Given the description of an element on the screen output the (x, y) to click on. 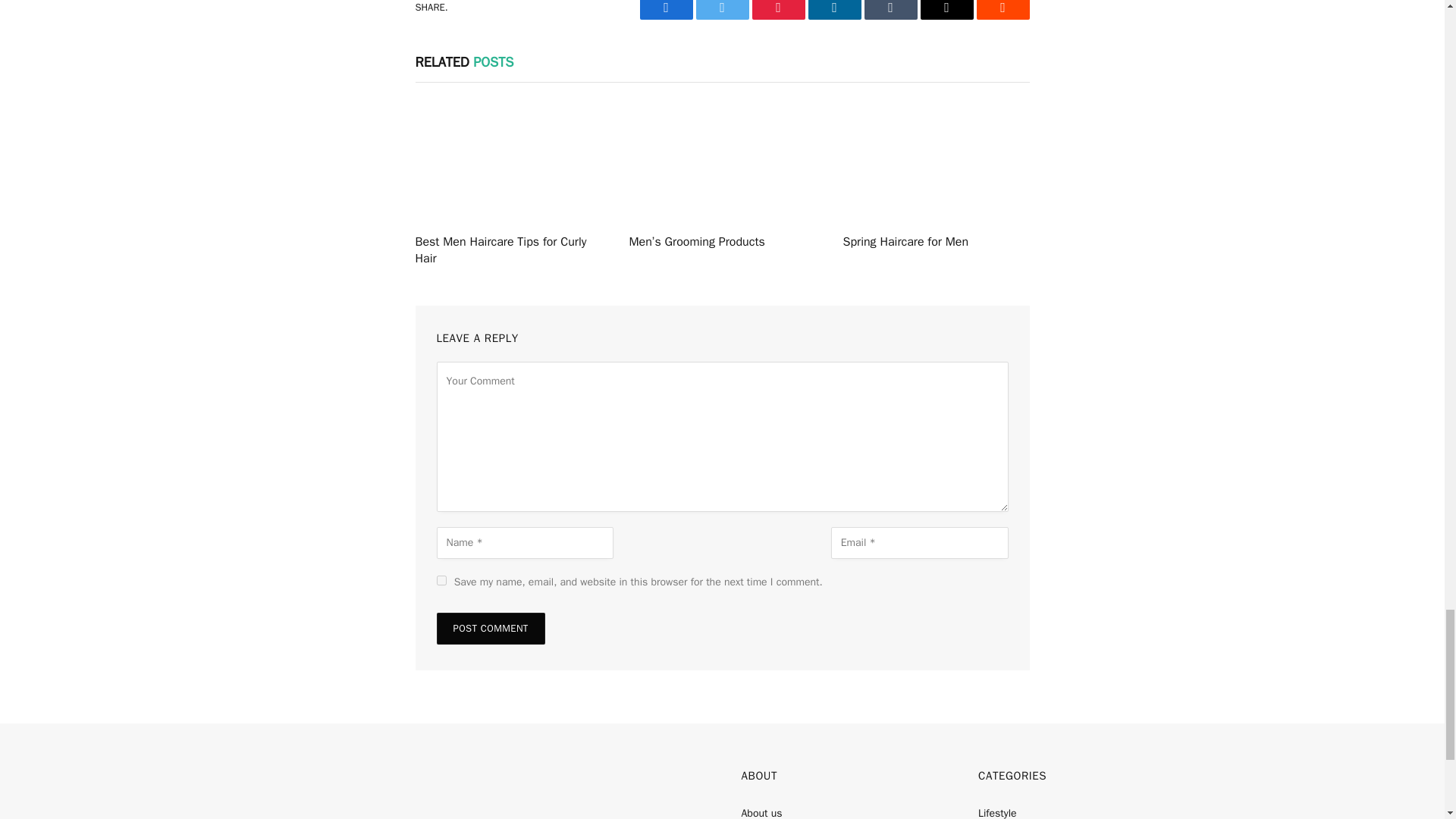
Post Comment (490, 628)
yes (441, 580)
